Given the description of an element on the screen output the (x, y) to click on. 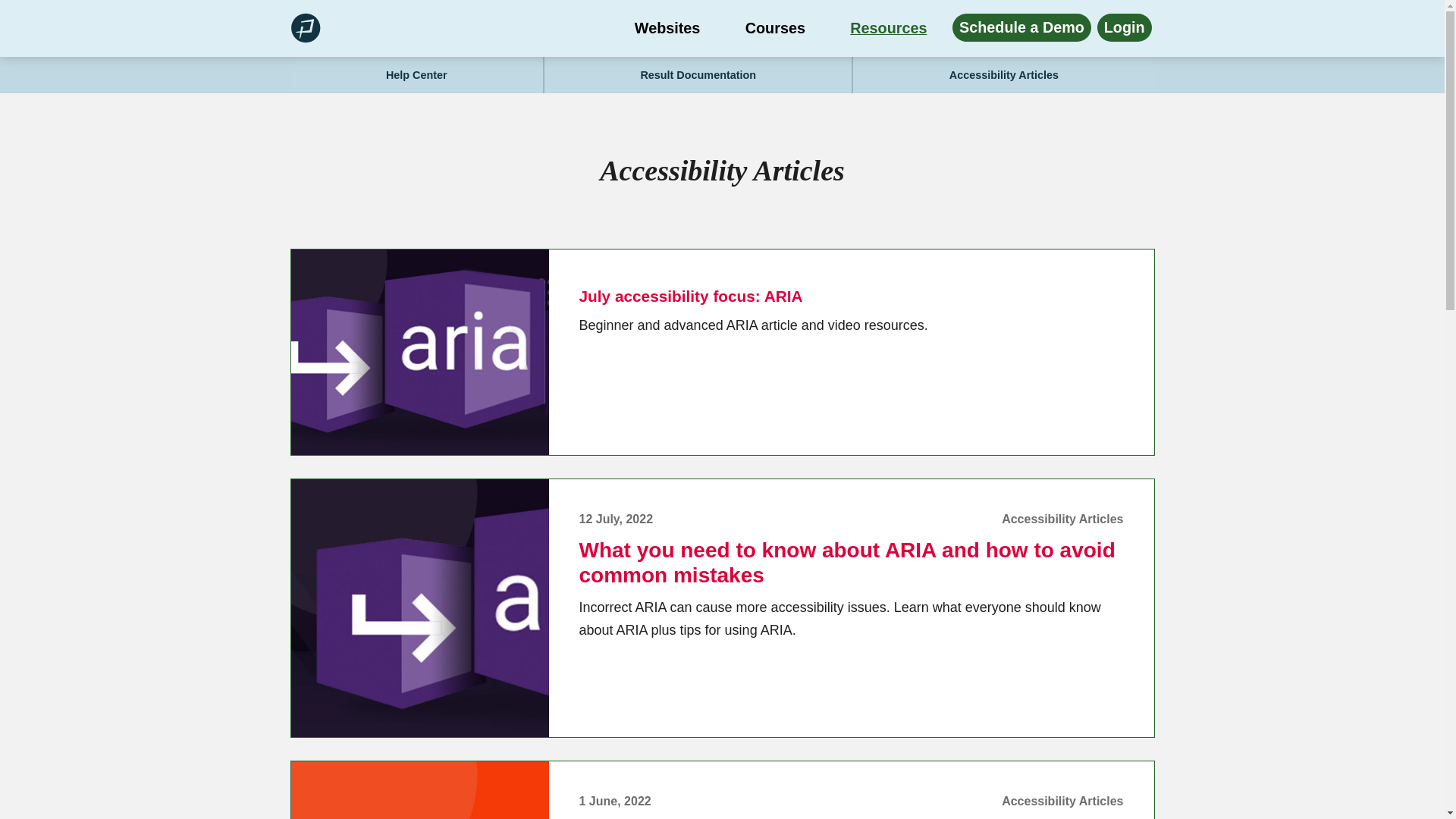
Websites (666, 28)
Courses (775, 28)
Schedule a Demo (1021, 27)
Accessibility Articles (1003, 74)
Resources (889, 28)
July accessibility focus: ARIA (691, 295)
Help Center (416, 74)
Login (1124, 27)
Result Documentation (697, 74)
